Given the description of an element on the screen output the (x, y) to click on. 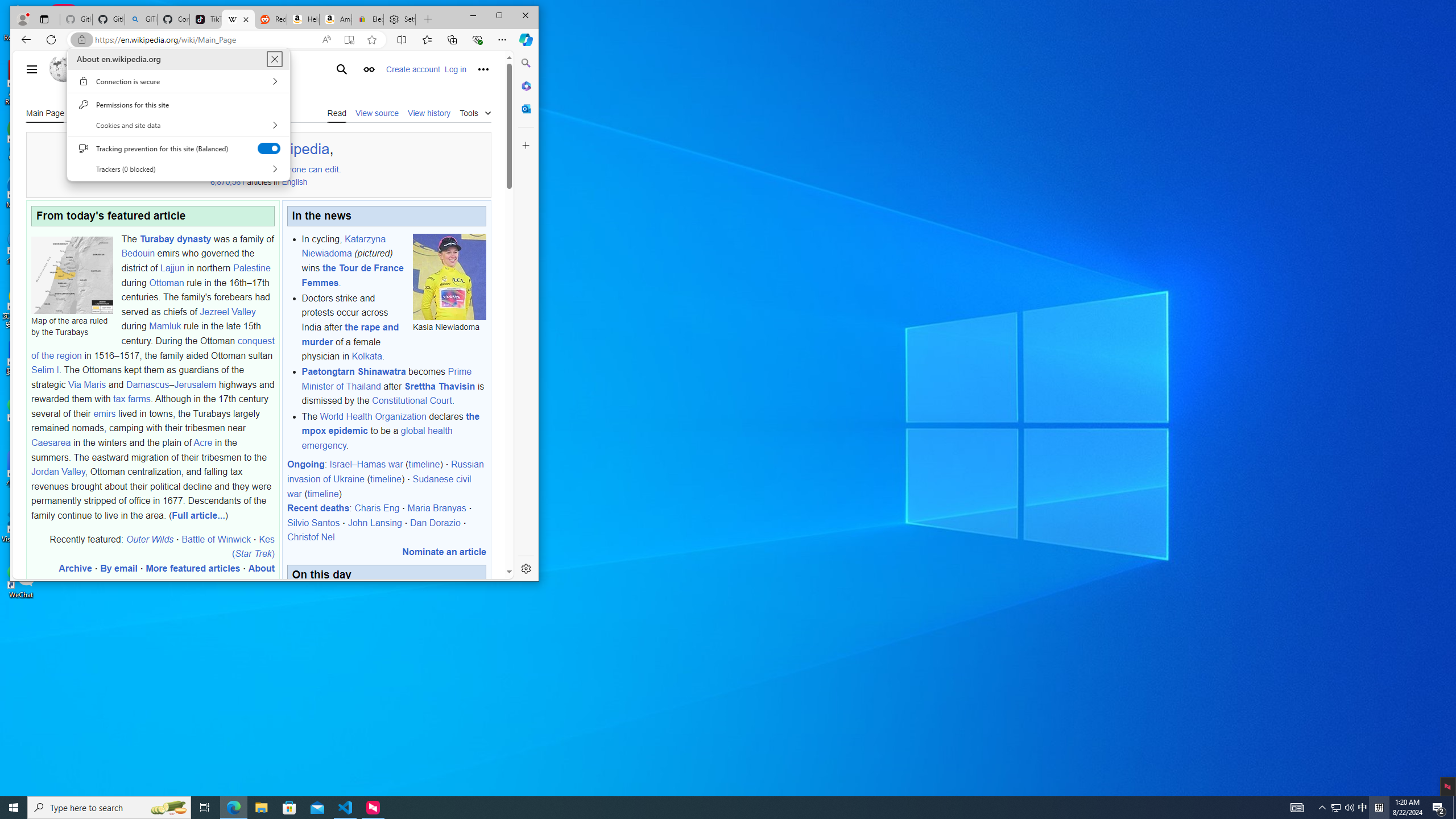
timeline (323, 493)
By email (119, 568)
Charis Eng (376, 508)
Turabay dynasty (175, 238)
Kes (Star Trek) (253, 546)
Palestine (251, 267)
John Lansing (374, 522)
